Given the description of an element on the screen output the (x, y) to click on. 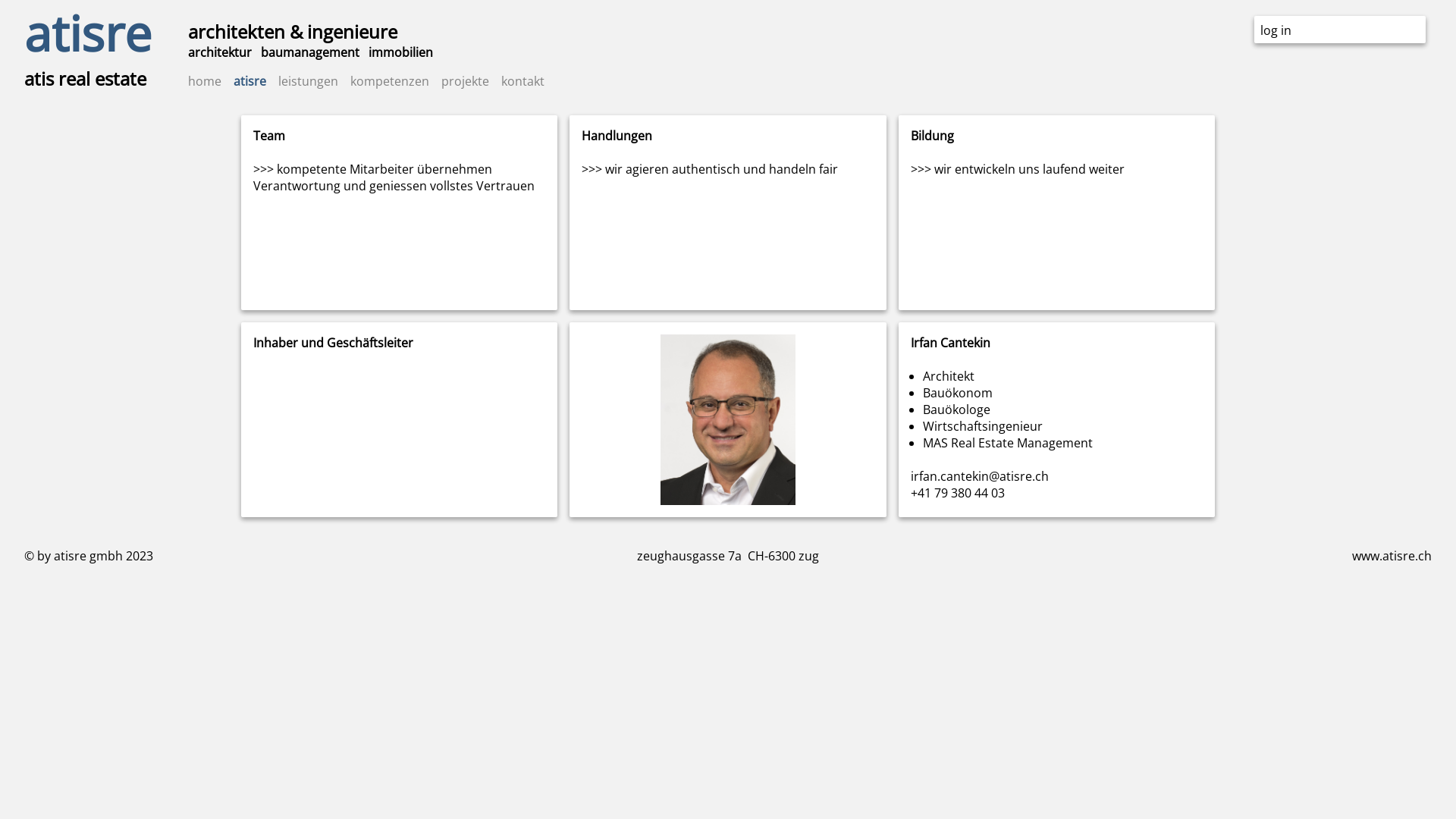
home Element type: text (204, 80)
atisre Element type: text (249, 80)
zeughausgasse 7a  CH-6300 zug Element type: text (728, 555)
log in Element type: text (1275, 29)
kontakt Element type: text (522, 80)
+41 79 380 44 03 Element type: text (957, 492)
leistungen Element type: text (308, 80)
atisre Element type: text (87, 32)
projekte Element type: text (465, 80)
kompetenzen Element type: text (389, 80)
irfan.cantekin@atisre.ch Element type: text (979, 475)
www.atisre.ch Element type: text (1391, 555)
